Given the description of an element on the screen output the (x, y) to click on. 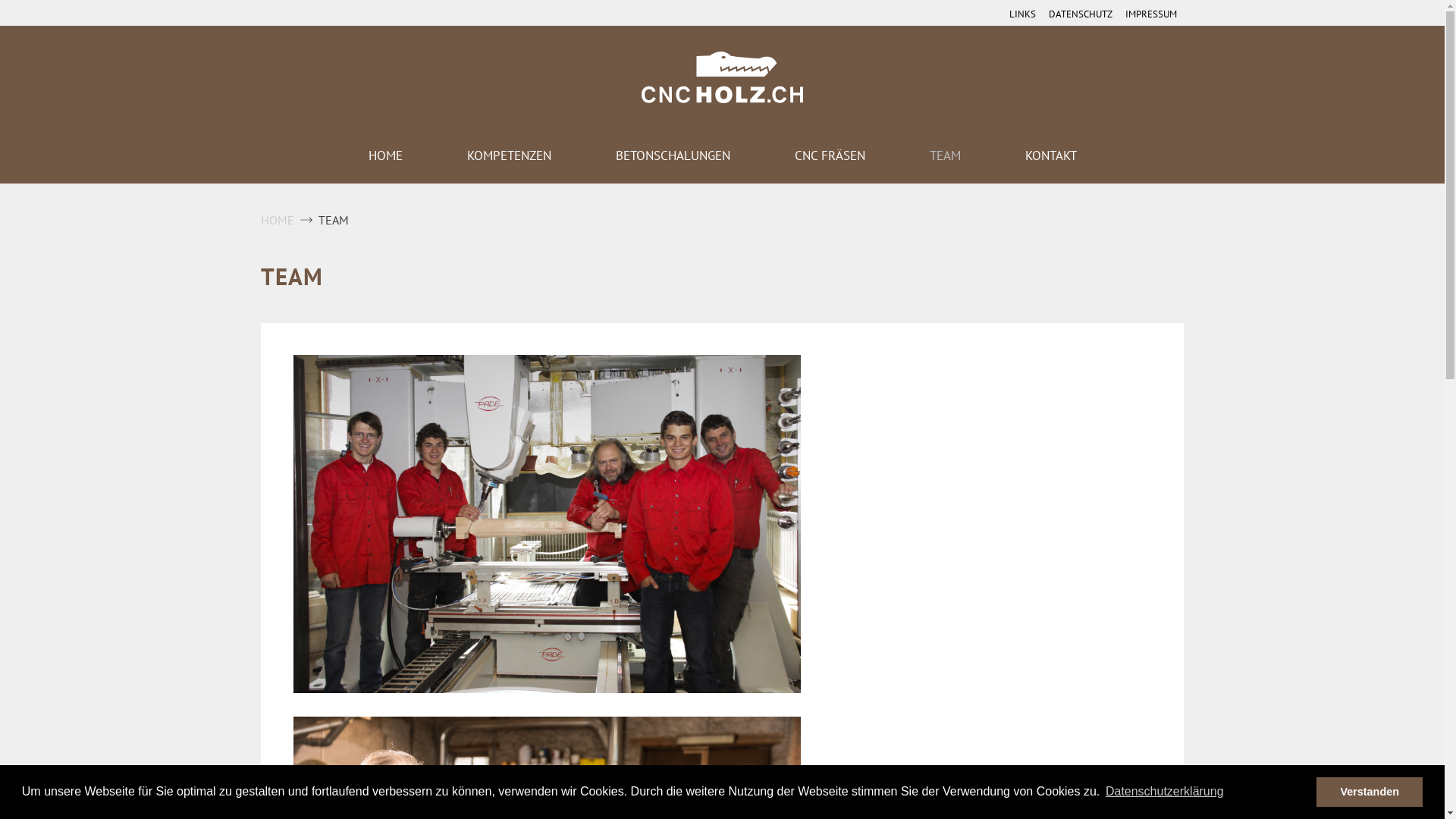
Verstanden Element type: text (1369, 791)
KONTAKT Element type: text (1083, 155)
LINKS Element type: text (1022, 14)
TEAM Element type: text (977, 155)
IMPRESSUM Element type: text (1150, 14)
BETONSCHALUNGEN Element type: text (704, 155)
HOME Element type: text (277, 219)
KOMPETENZEN Element type: text (541, 155)
DATENSCHUTZ Element type: text (1080, 14)
HOME Element type: text (417, 155)
